Given the description of an element on the screen output the (x, y) to click on. 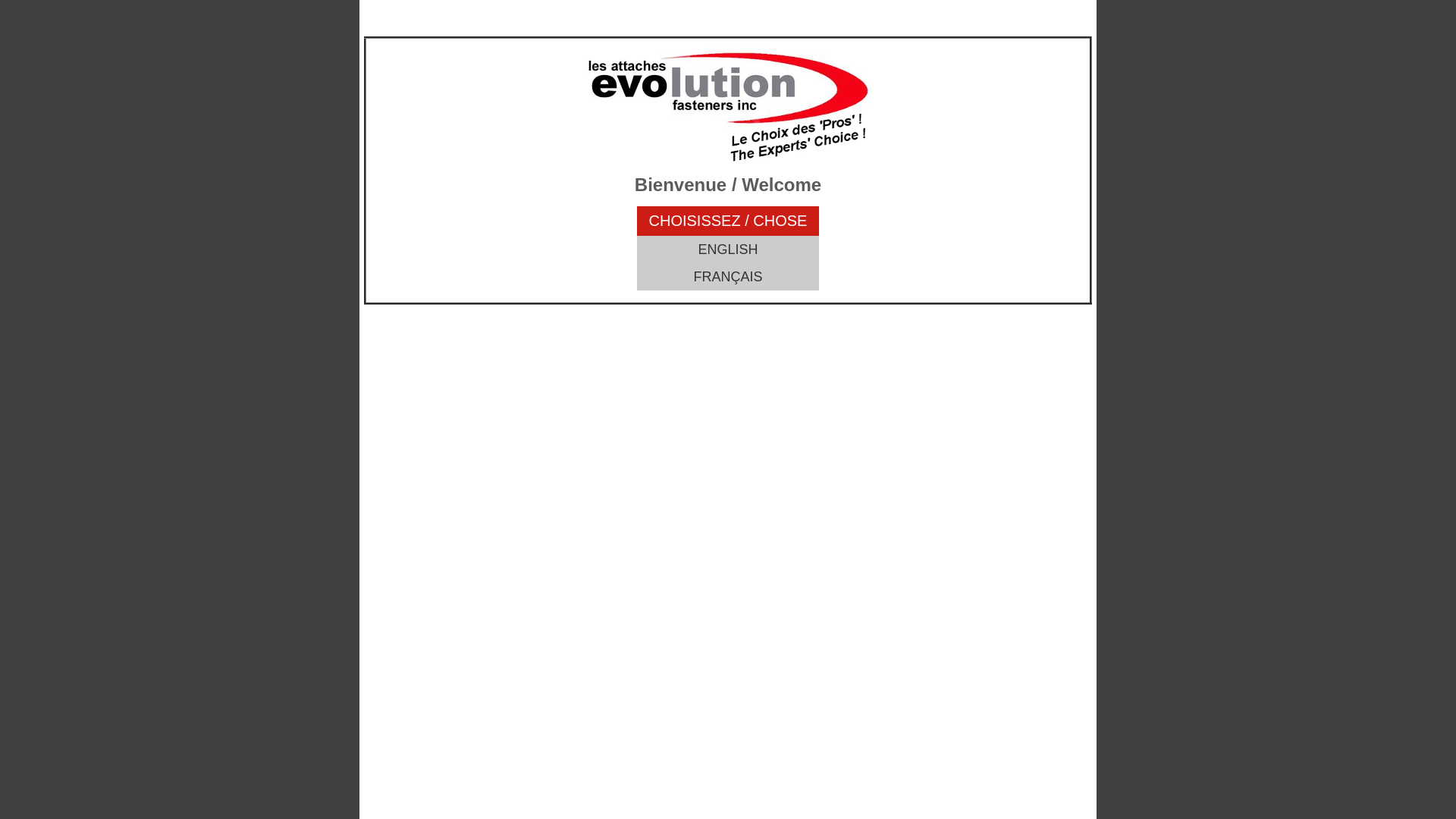
CHOISISSEZ / CHOSE Element type: text (728, 220)
ENGLISH Element type: text (728, 249)
